Given the description of an element on the screen output the (x, y) to click on. 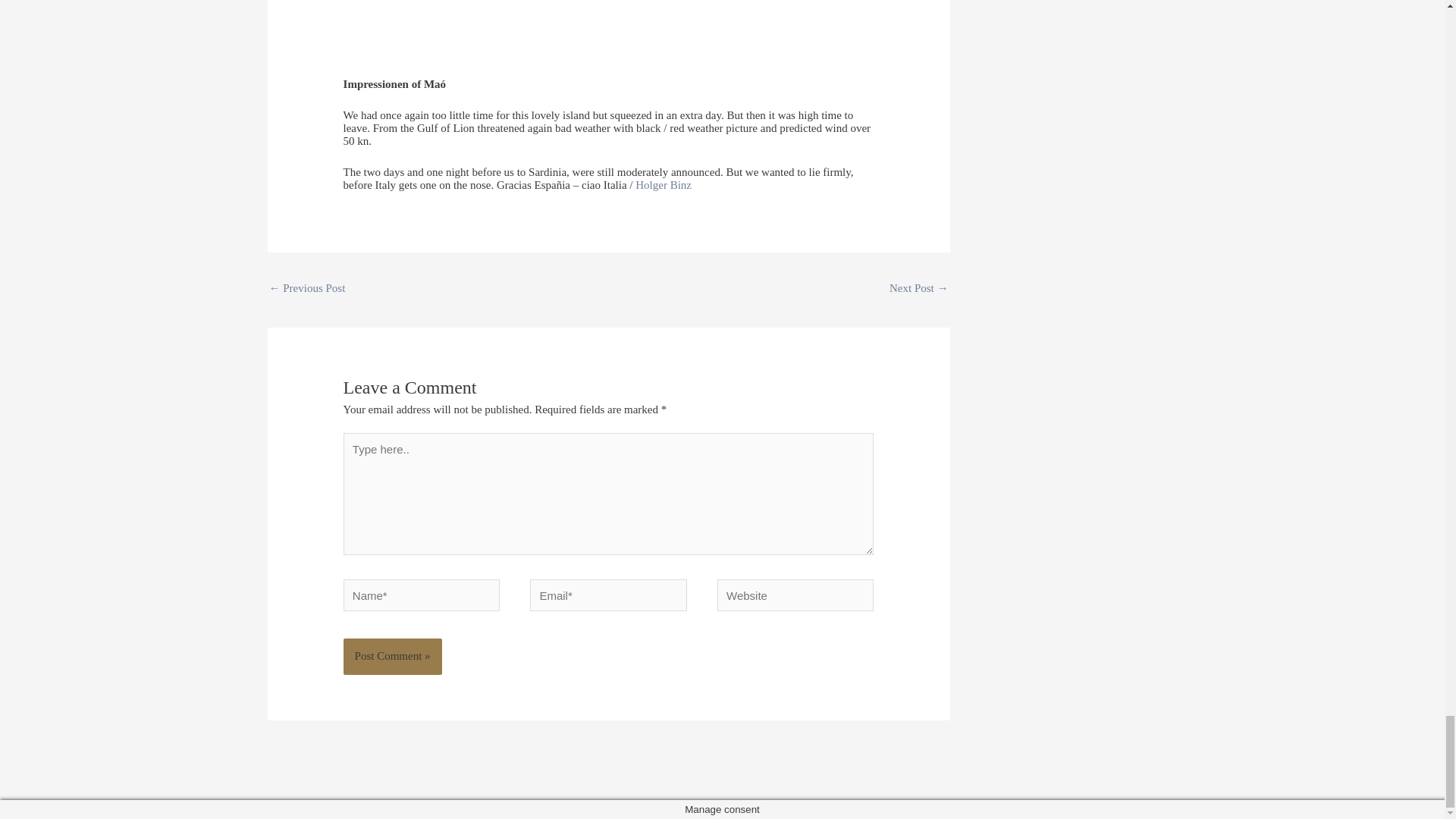
Sailing the Balearic Islands - Part 2 (306, 289)
Offshore sailing Menorca - Sardinia (919, 289)
Holger Binz (662, 184)
